Given the description of an element on the screen output the (x, y) to click on. 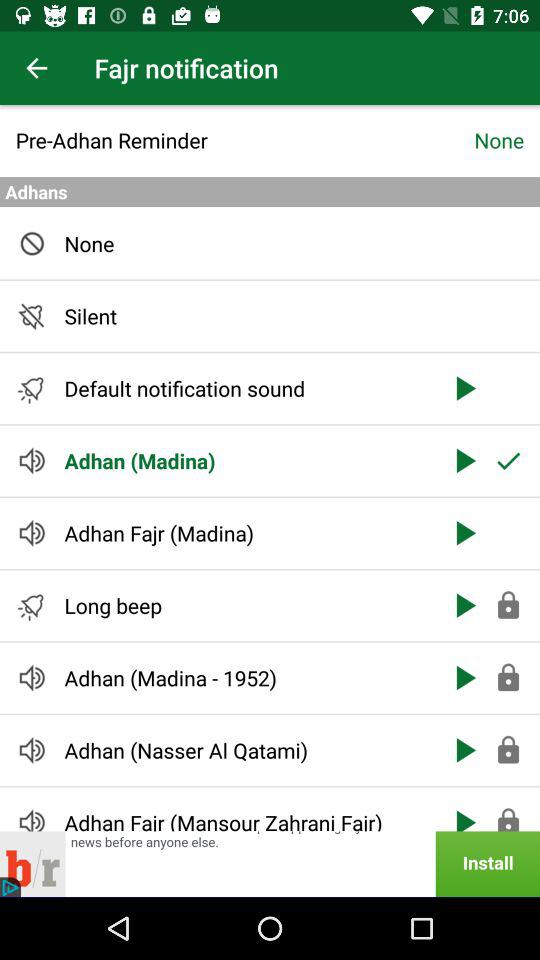
turn off default notification sound item (245, 388)
